Given the description of an element on the screen output the (x, y) to click on. 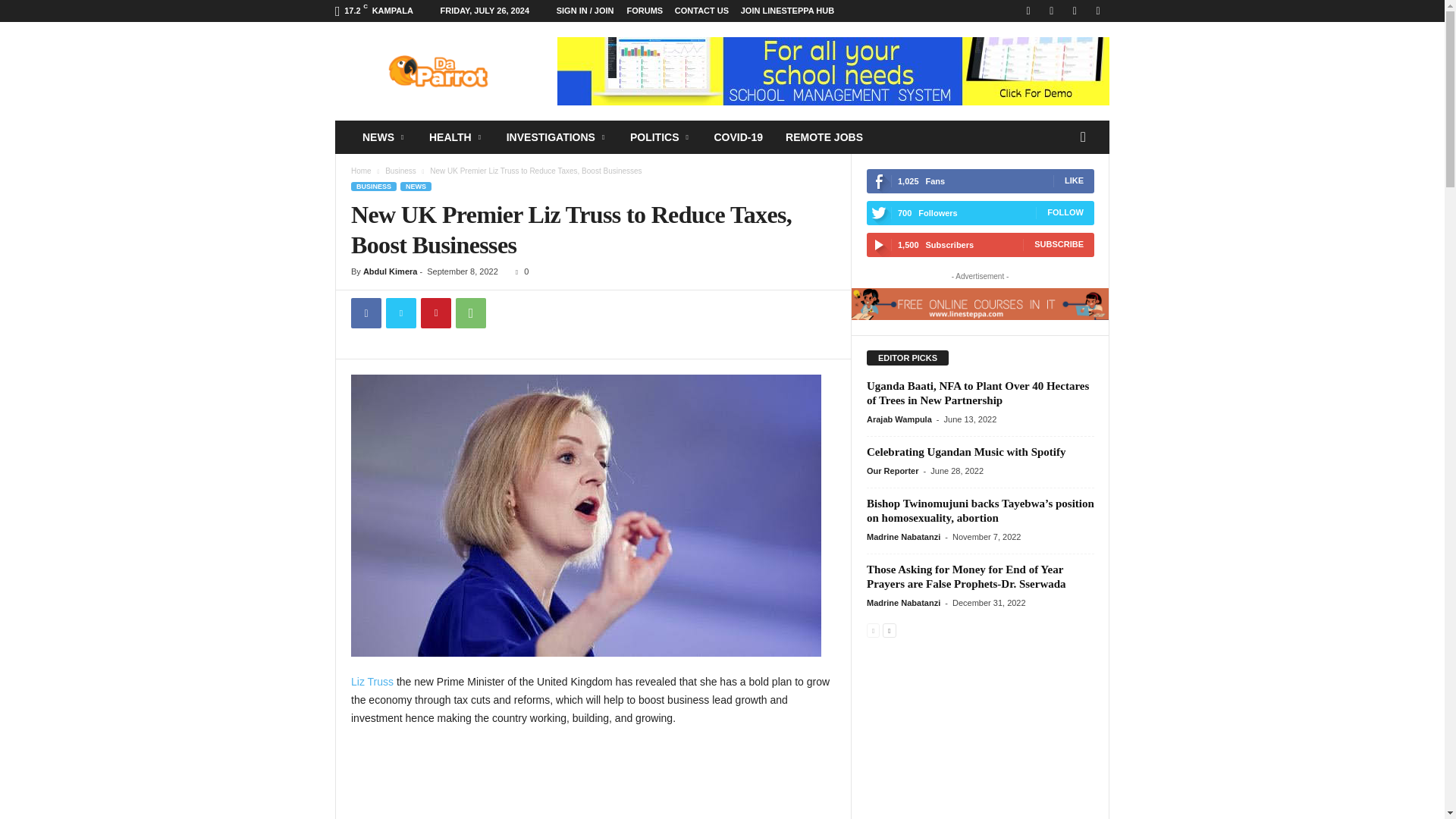
FORUMS (645, 10)
NEWS (383, 136)
CONTACT US (702, 10)
JOIN LINESTEPPA HUB (787, 10)
